Given the description of an element on the screen output the (x, y) to click on. 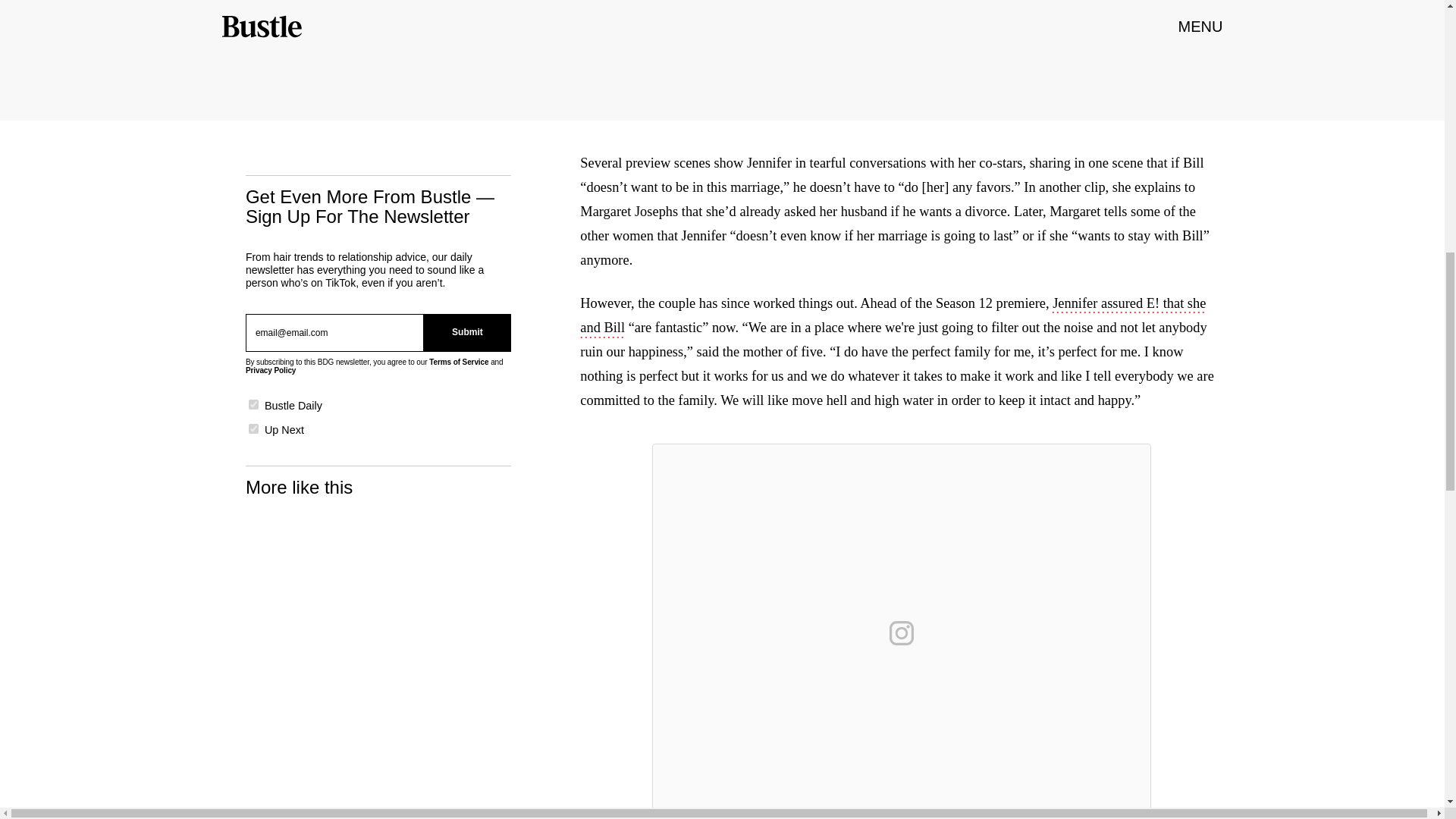
Terms of Service (458, 361)
View on Instagram (901, 633)
Submit (467, 332)
Privacy Policy (270, 370)
Jennifer assured E! that she and Bill (892, 316)
